Given the description of an element on the screen output the (x, y) to click on. 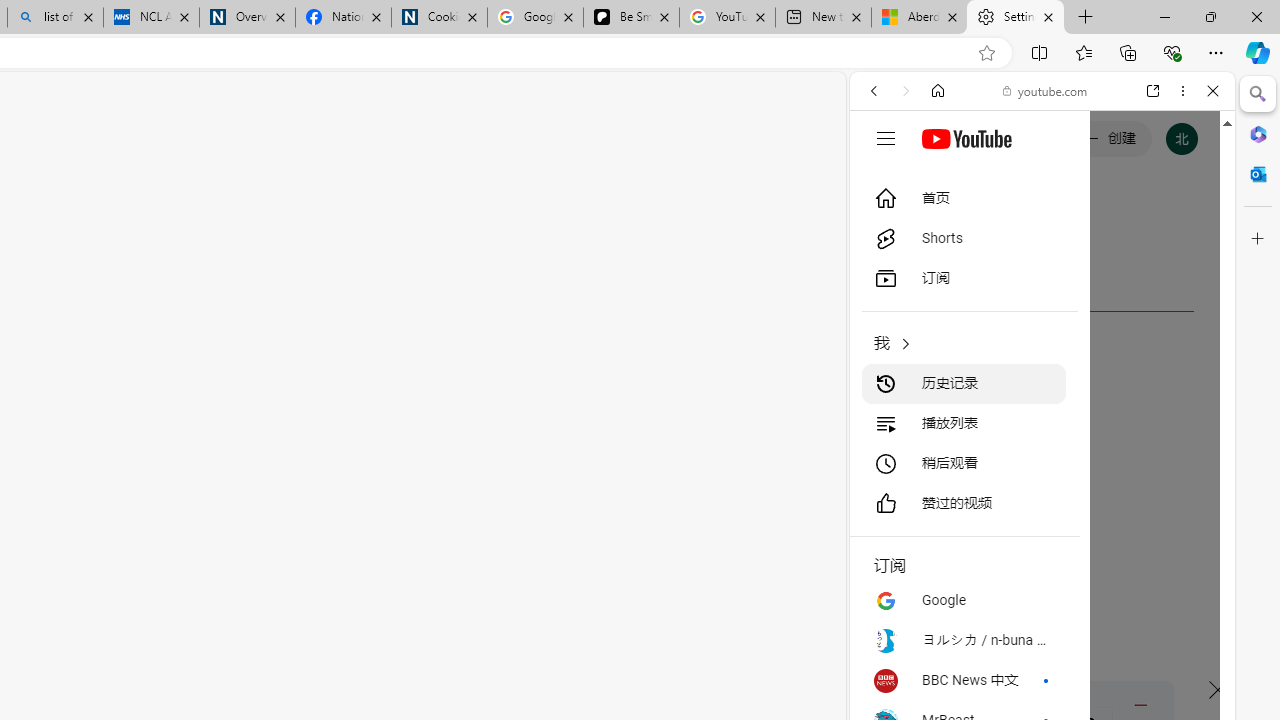
AutomationID: button (886, 138)
Be Smart | creating Science videos | Patreon (631, 17)
